Given the description of an element on the screen output the (x, y) to click on. 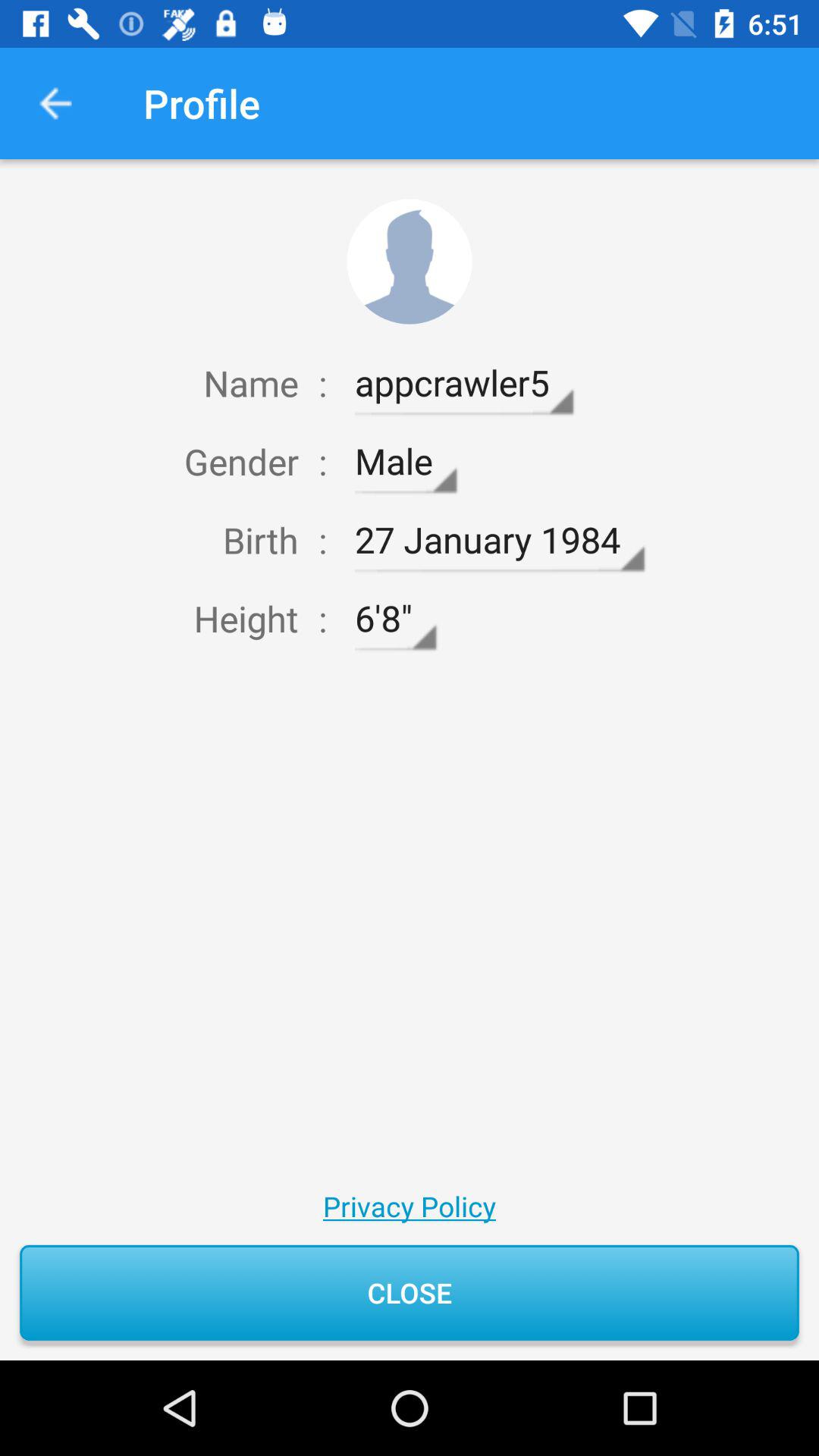
launch icon next to : (463, 383)
